Given the description of an element on the screen output the (x, y) to click on. 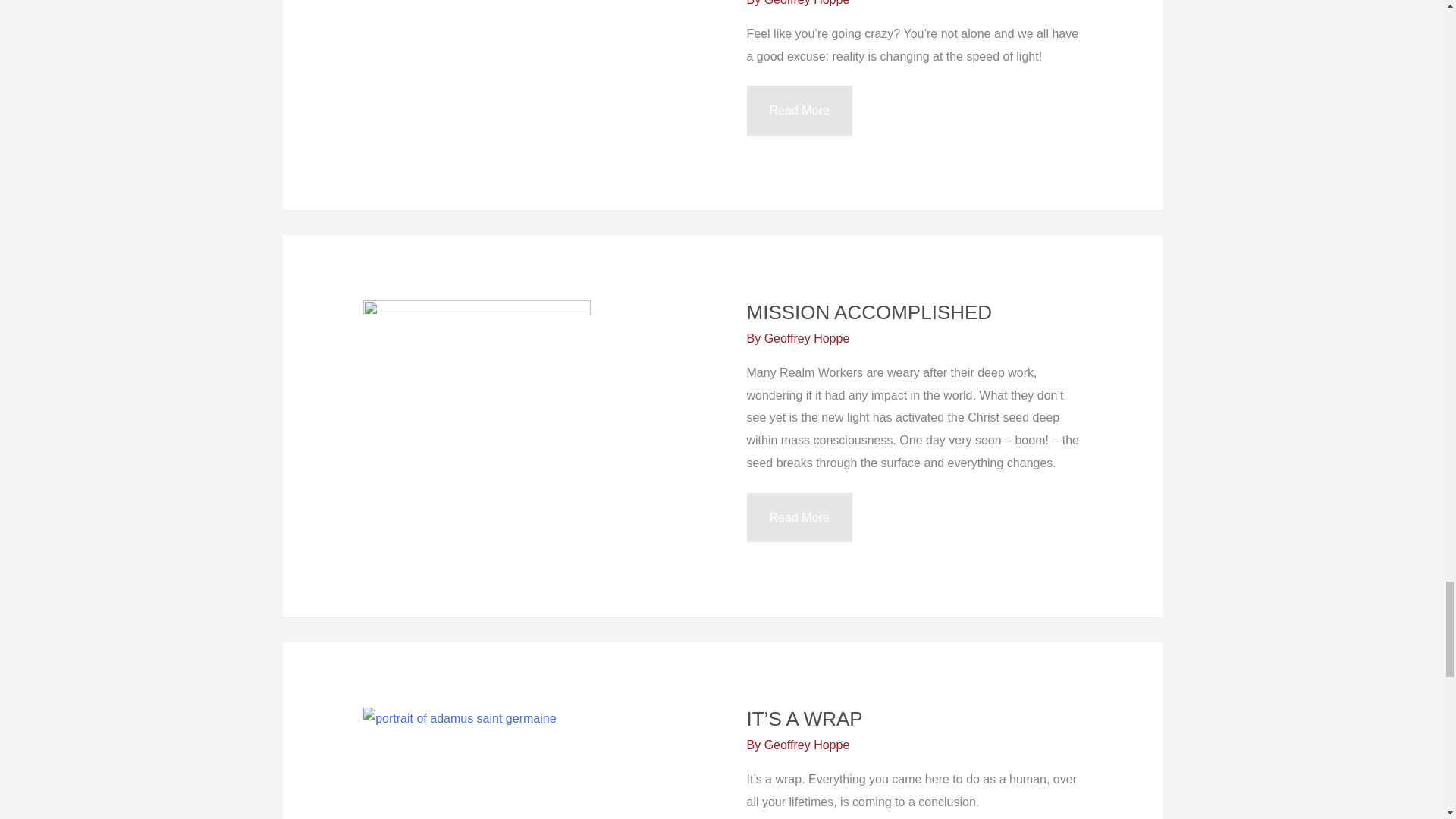
View all posts by Geoffrey Hoppe (807, 2)
